Given the description of an element on the screen output the (x, y) to click on. 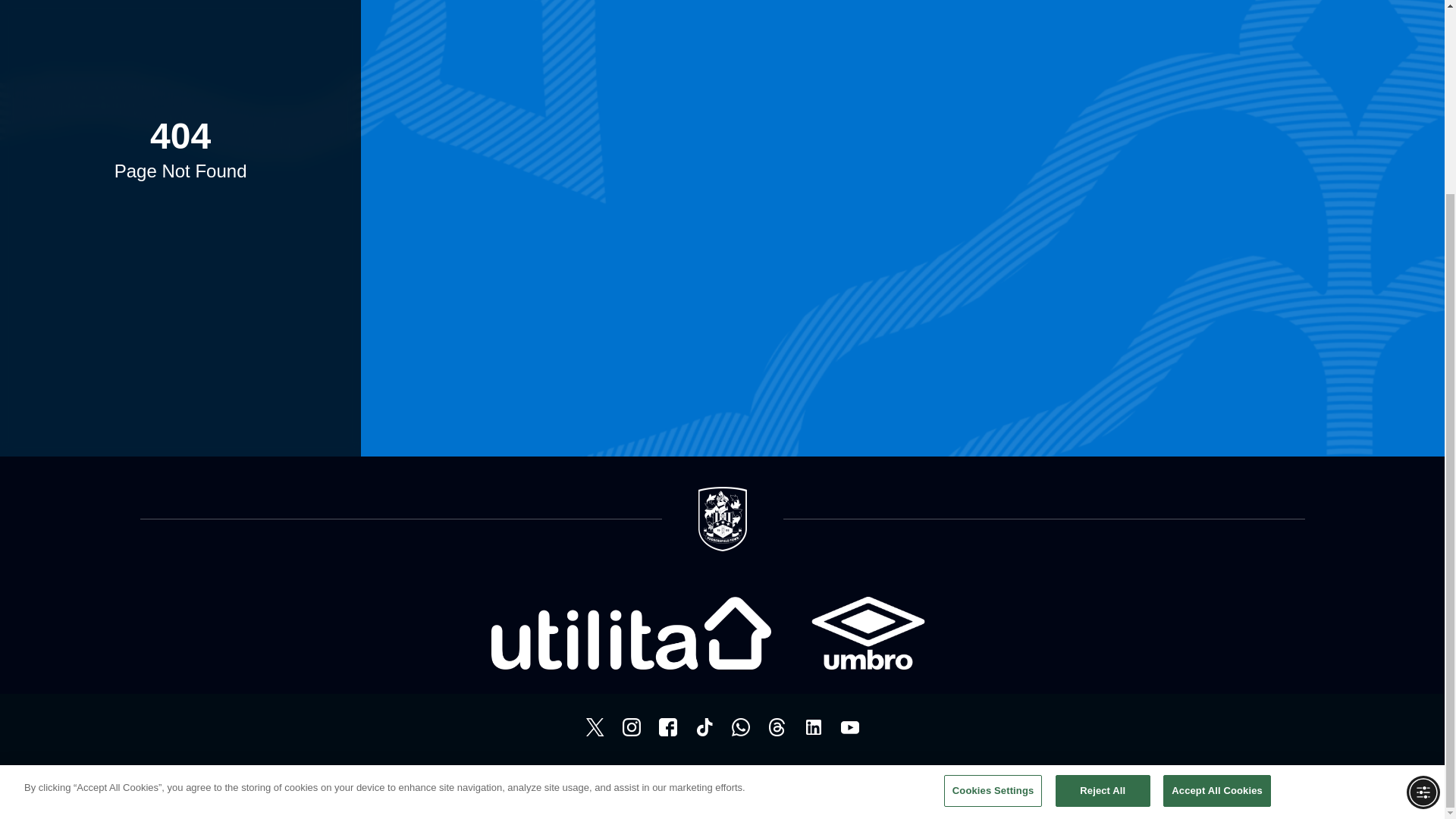
Accessibility (694, 779)
Privacy Policy (623, 779)
Reject All (1102, 546)
Careers (904, 779)
Company Details (772, 779)
Cookies Settings (992, 546)
Terms of Use (549, 779)
Contact Us (847, 779)
Accessibility Menu (1422, 548)
Privacy Policy (623, 779)
htafc (667, 727)
Contact Us (847, 779)
Company Details (772, 779)
Accessibility (694, 779)
Terms of Use (549, 779)
